Given the description of an element on the screen output the (x, y) to click on. 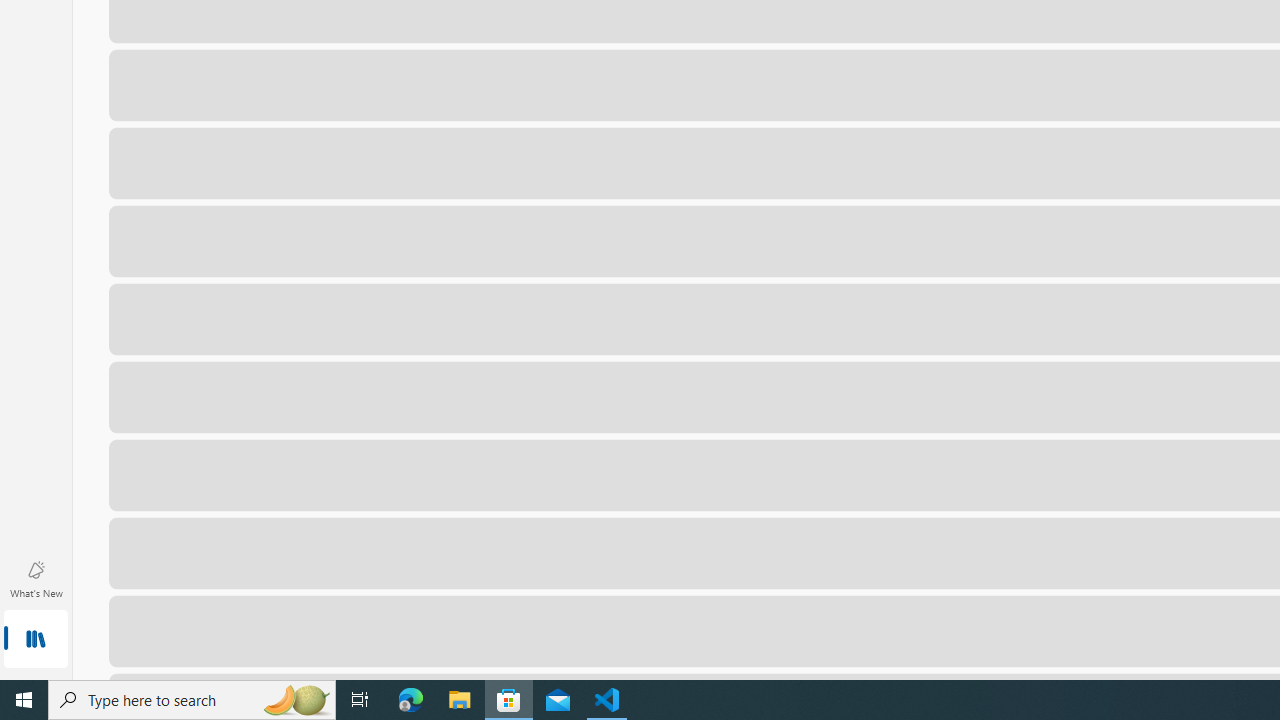
What's New (35, 578)
Library (35, 640)
